Given the description of an element on the screen output the (x, y) to click on. 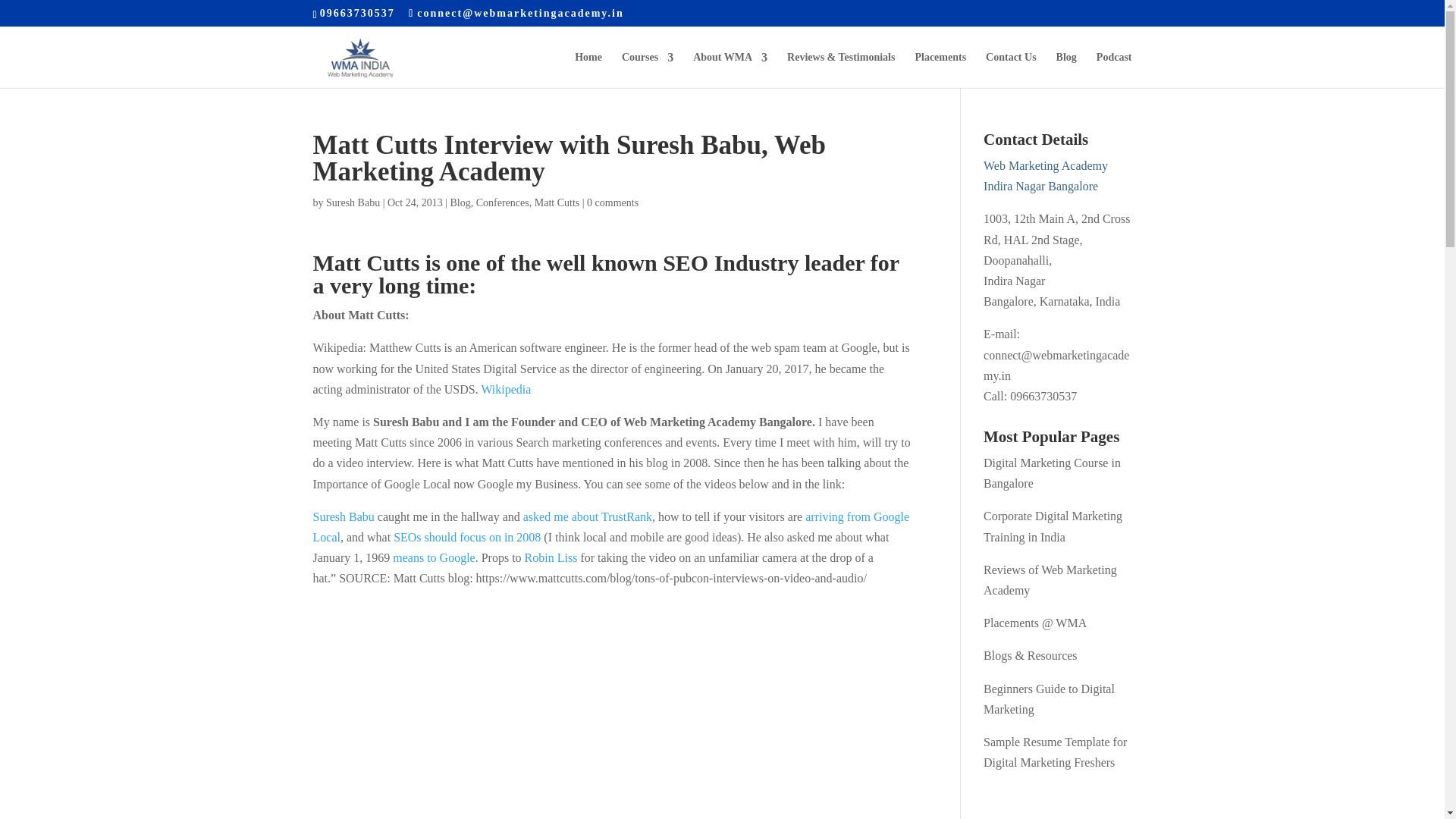
Blog (459, 202)
Contact Us (1010, 69)
arriving from Google Local (610, 526)
Wikipedia (505, 389)
0 comments (612, 202)
Placements (940, 69)
means to Google (433, 557)
SEOs should focus on in 2008 (466, 536)
Conferences (502, 202)
Podcast (1114, 69)
Robin Liss (551, 557)
About WMA (730, 69)
Posts by Suresh Babu (353, 202)
Matt Cutts (556, 202)
Suresh Babu (353, 202)
